Given the description of an element on the screen output the (x, y) to click on. 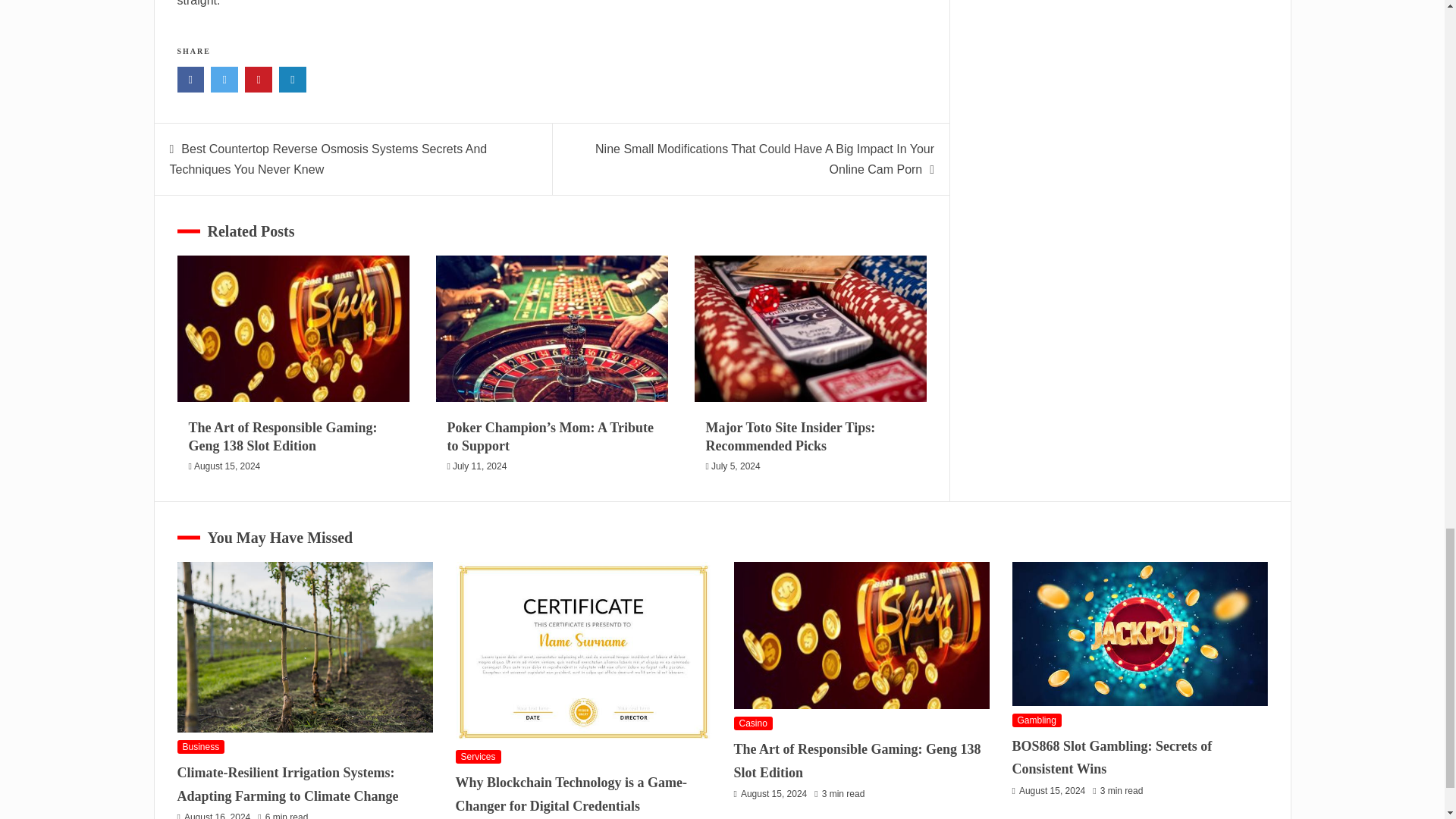
Major Toto Site Insider Tips: Recommended Picks (791, 436)
July 11, 2024 (479, 466)
August 15, 2024 (226, 466)
July 5, 2024 (735, 466)
The Art of Responsible Gaming: Geng 138 Slot Edition (282, 436)
